Given the description of an element on the screen output the (x, y) to click on. 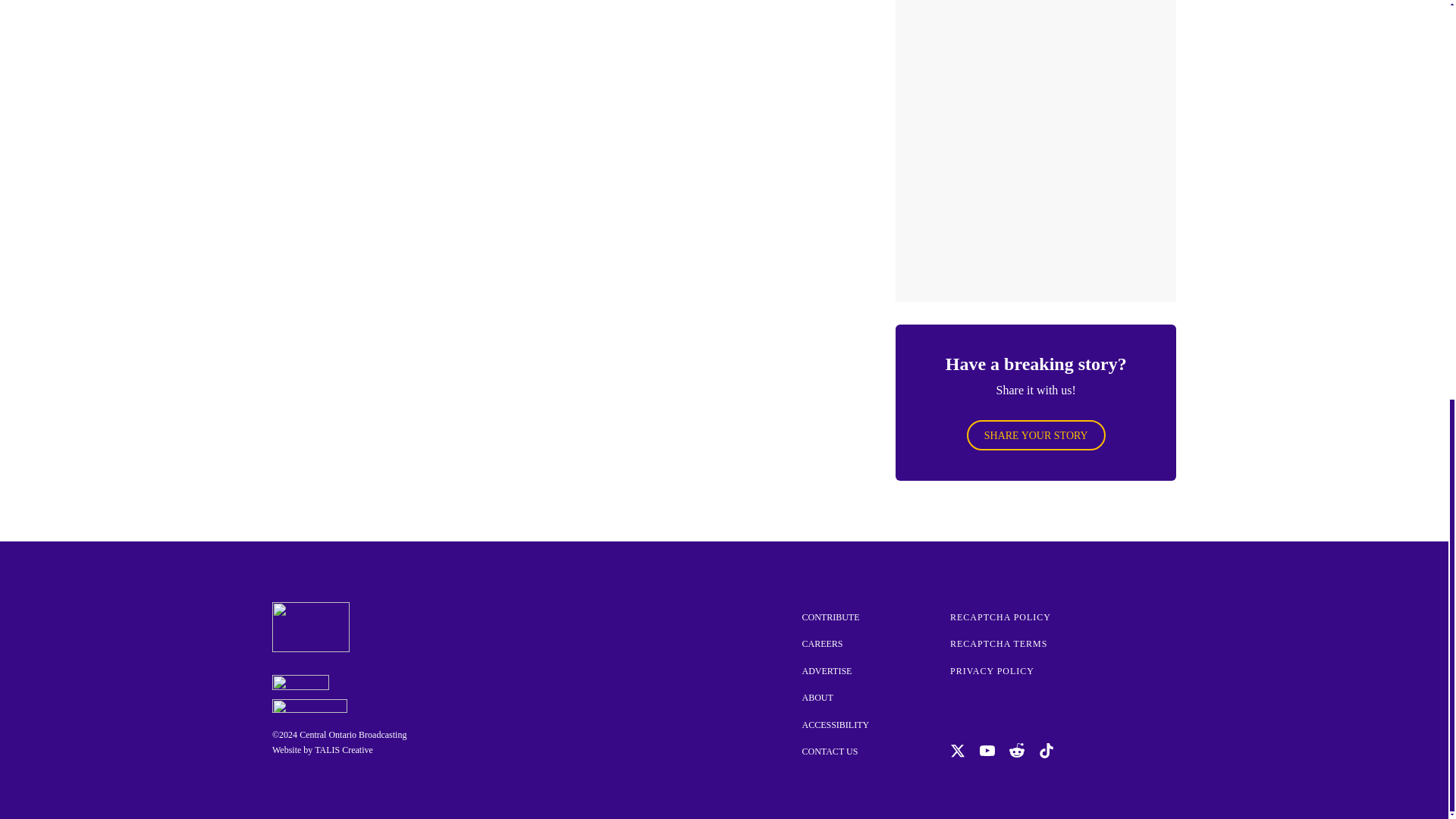
SHARE YOUR STORY (1035, 435)
